Given the description of an element on the screen output the (x, y) to click on. 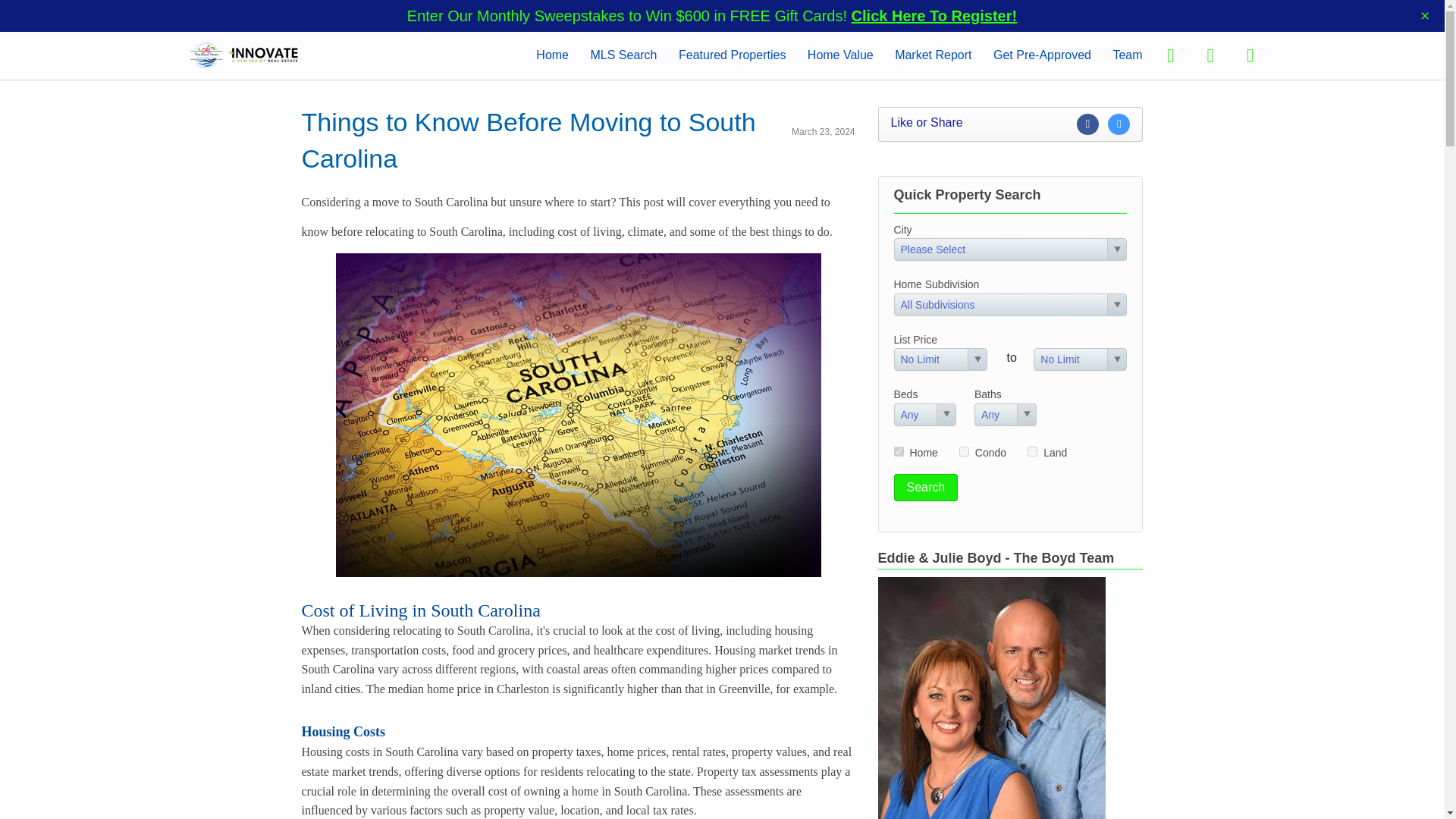
Click Here To Register! (934, 15)
Team (1126, 54)
lnd (1031, 451)
Search (925, 487)
con (964, 451)
Featured Properties (732, 54)
res (897, 451)
Market Report (933, 54)
MLS Search (622, 54)
Get Pre-Approved (1041, 54)
Home Value (840, 54)
Things to Know Before Moving to South Carolina (528, 139)
Home (552, 54)
Like or Share (1009, 124)
